Given the description of an element on the screen output the (x, y) to click on. 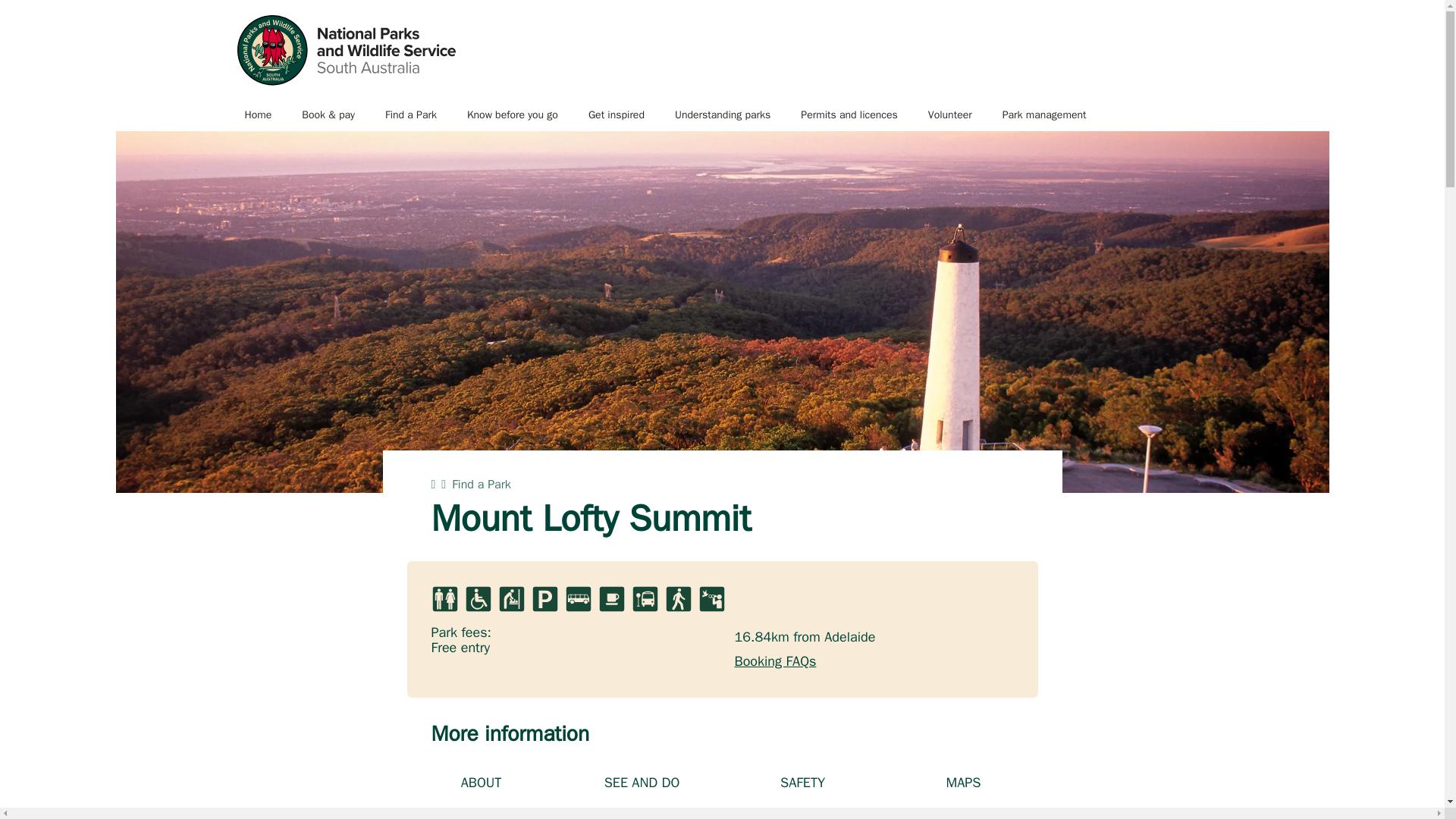
Understanding parks (722, 115)
Bird watching (711, 598)
Parks (344, 50)
Get inspired (616, 115)
Baby change room (510, 598)
Parking (544, 598)
Public transport access (644, 598)
Find a Park (410, 115)
Know before you go (512, 115)
Cafe (610, 598)
Bushwalking (677, 598)
Home (257, 115)
Toilet (444, 598)
